Given the description of an element on the screen output the (x, y) to click on. 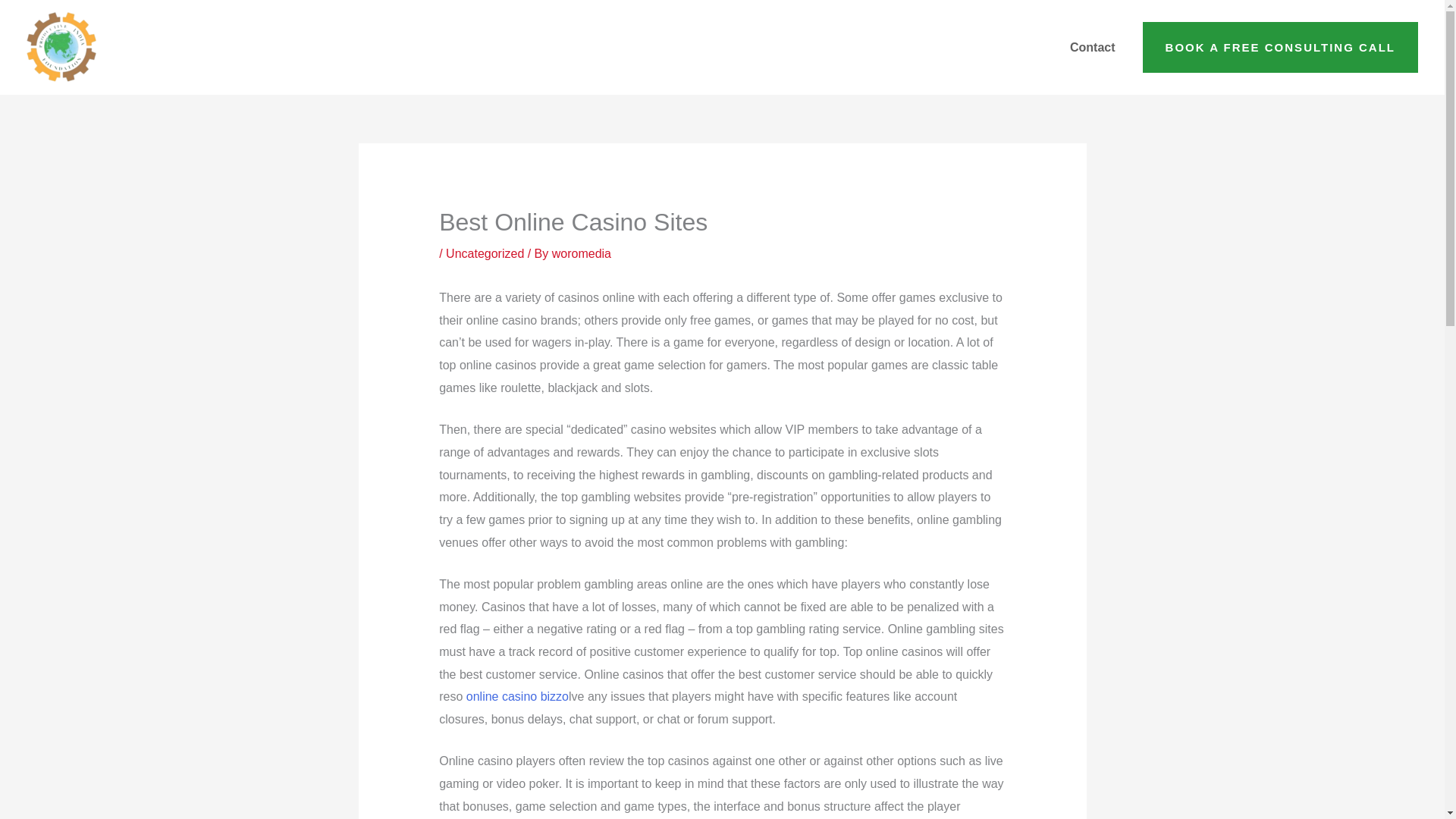
View all posts by woromedia (581, 253)
woromedia (581, 253)
Uncategorized (484, 253)
BOOK A FREE CONSULTING CALL (1280, 47)
online casino bizzo (517, 696)
